Given the description of an element on the screen output the (x, y) to click on. 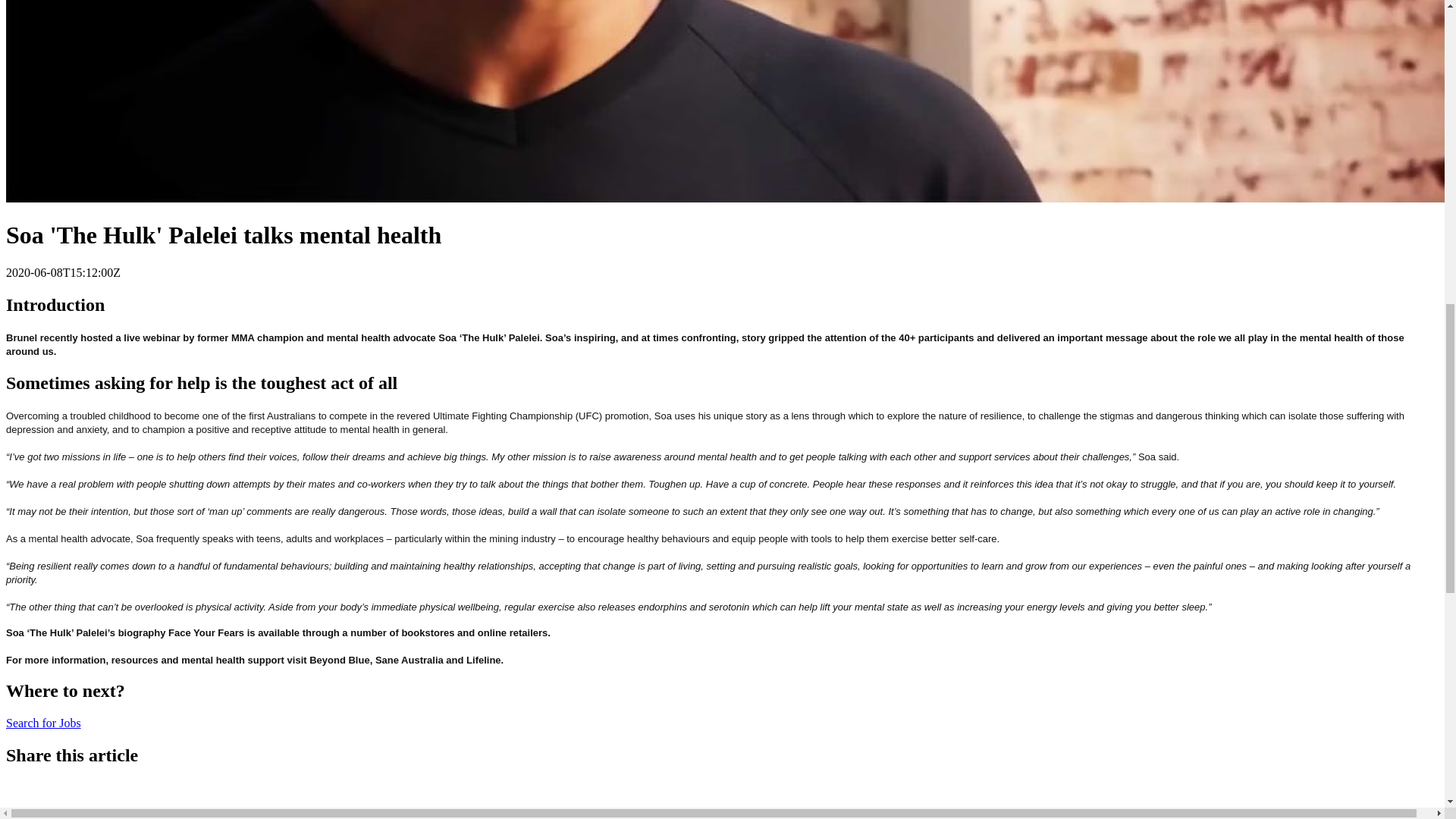
Beyond Blue (338, 658)
Sane Australia (409, 658)
Lifeline (482, 658)
